Given the description of an element on the screen output the (x, y) to click on. 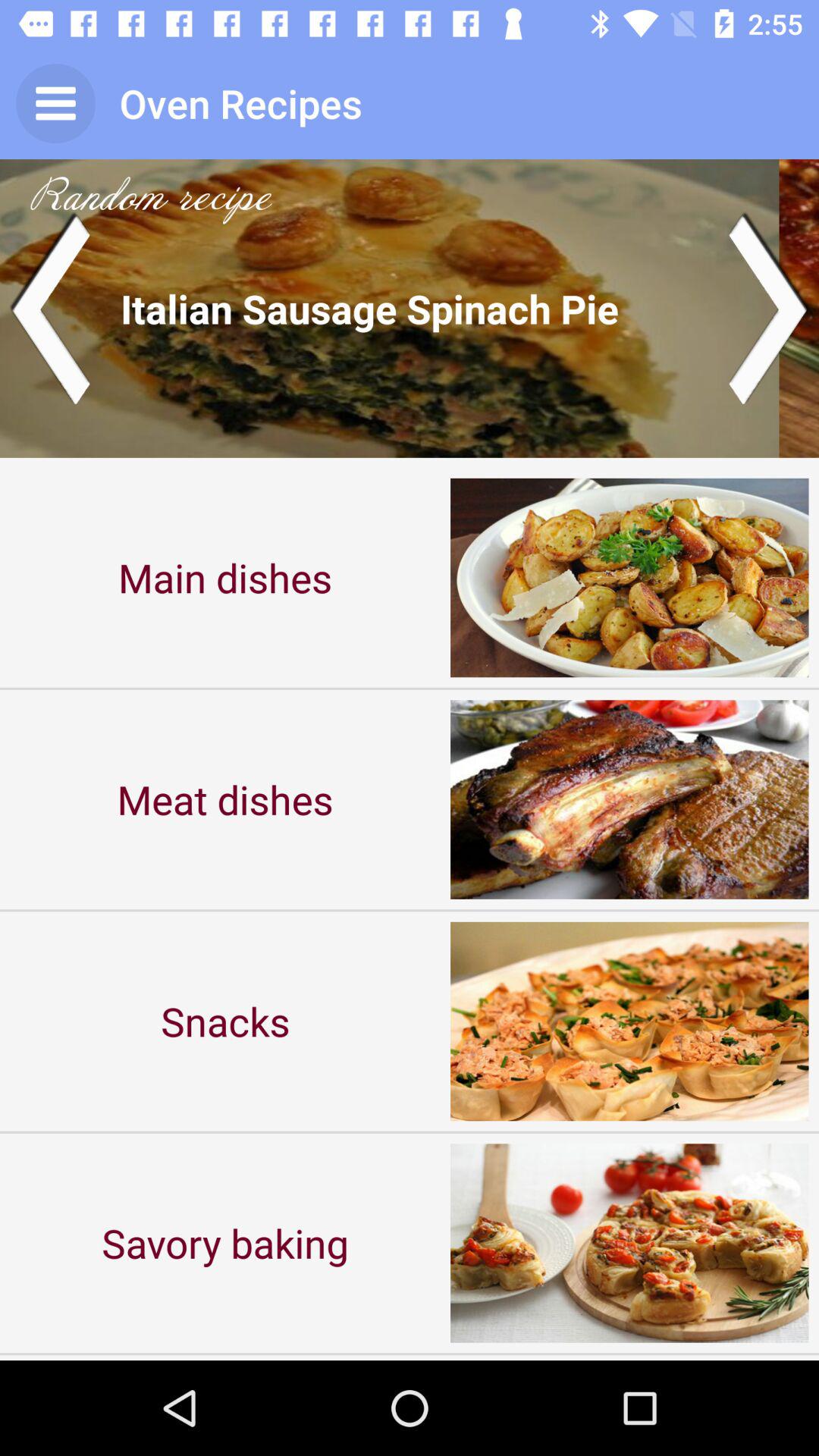
click app to the left of the oven recipes (55, 103)
